Given the description of an element on the screen output the (x, y) to click on. 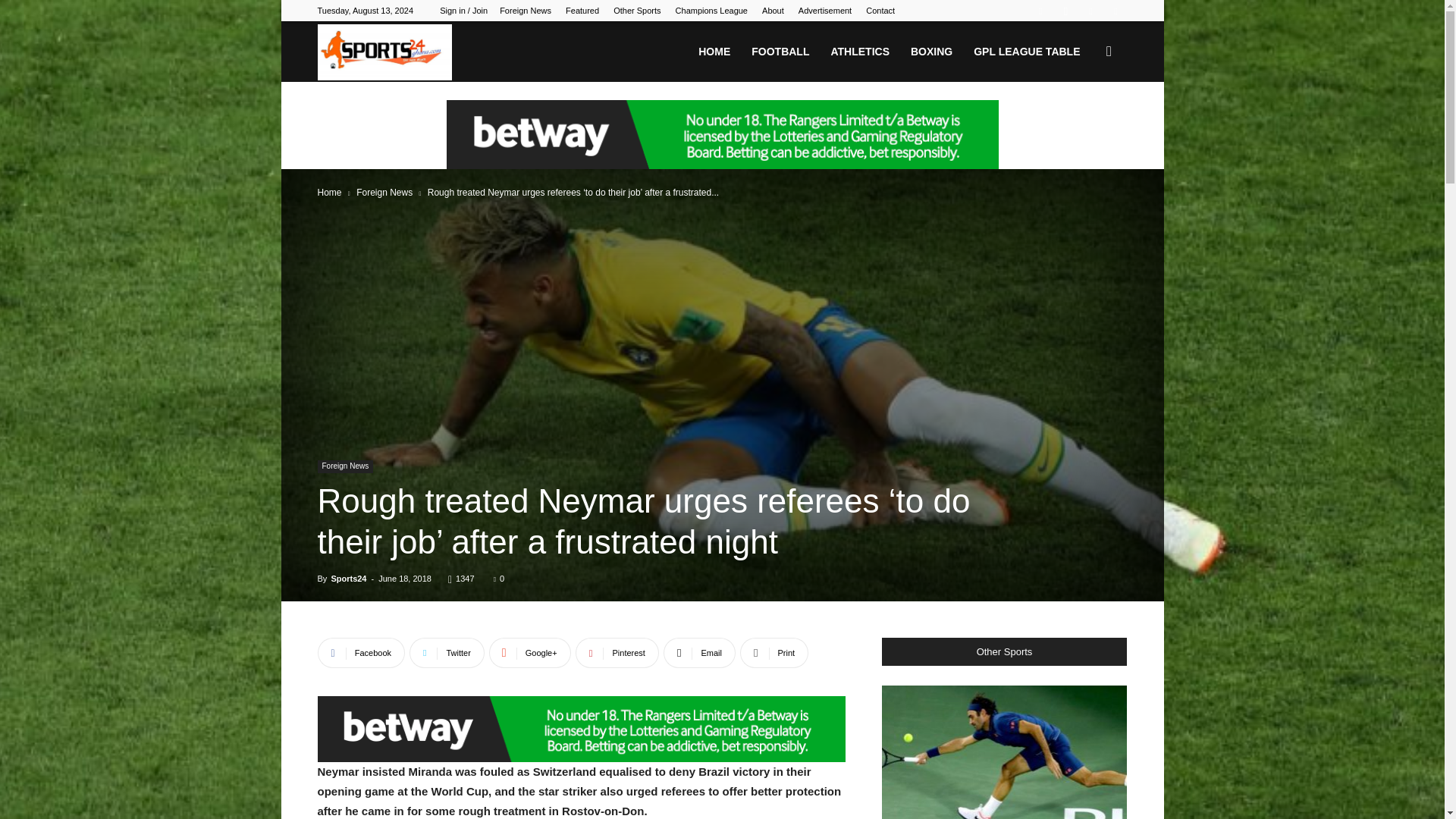
BOXING (930, 51)
Champions League (711, 10)
Contact (880, 10)
Search (1085, 124)
Sports 24 Ghana (384, 52)
Twitter (1114, 10)
Foreign News (525, 10)
Linkedin (1090, 10)
Advertisement (824, 10)
Featured (582, 10)
